Given the description of an element on the screen output the (x, y) to click on. 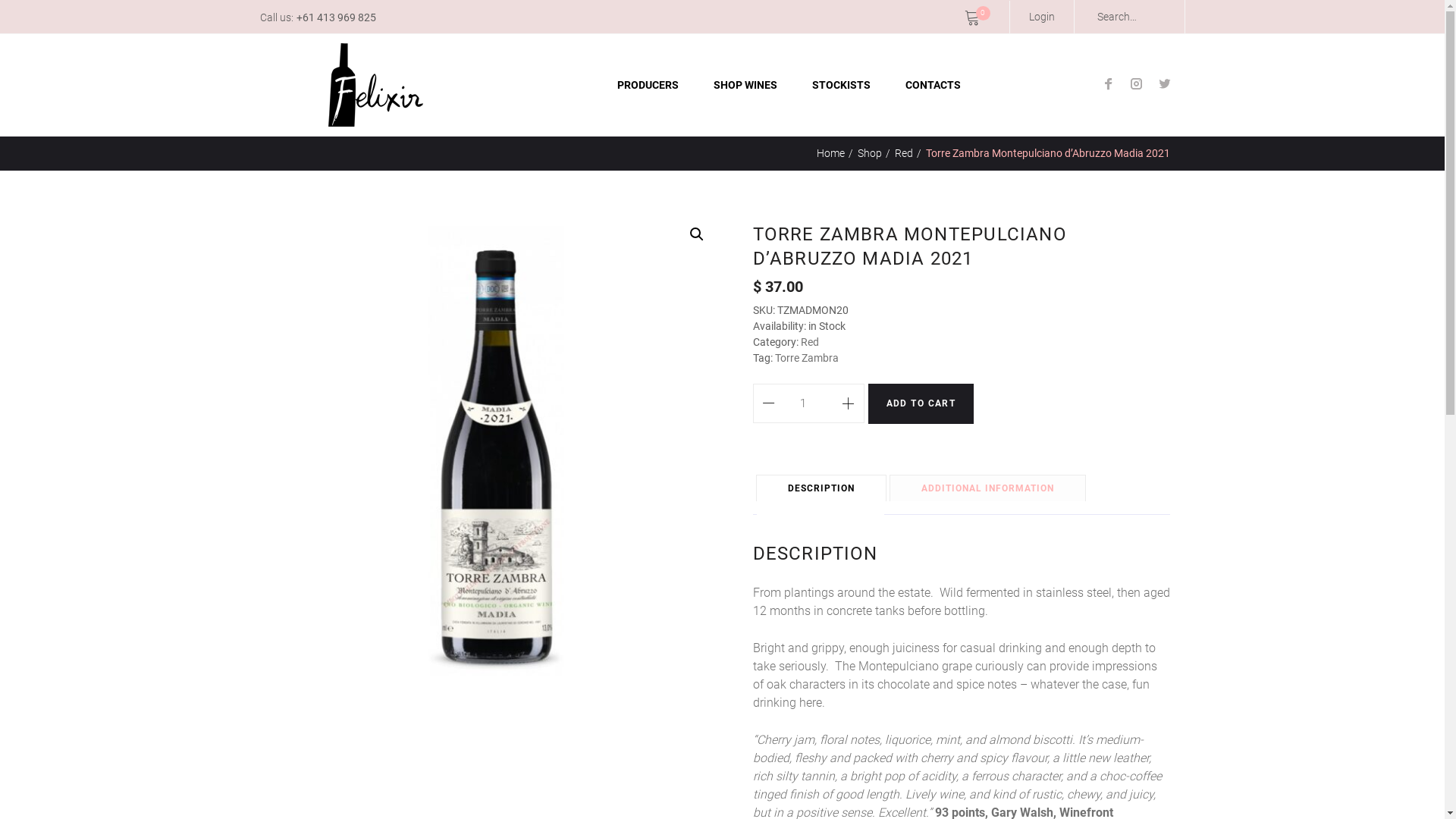
Torre Zambra Element type: text (806, 357)
Facebook Element type: text (1107, 84)
DESCRIPTION Element type: text (820, 488)
Red Element type: text (809, 341)
ADD TO CART Element type: text (920, 403)
+61 413 969 825 Element type: text (335, 17)
ADDITIONAL INFORMATION Element type: text (987, 488)
Twitter Element type: text (1164, 84)
Qty Element type: hover (808, 403)
PRODUCERS Element type: text (647, 85)
Torrezambra-Madia-2021-WEB Element type: hover (497, 453)
Home Element type: text (829, 153)
STOCKISTS Element type: text (841, 85)
Shop Element type: text (868, 153)
CONTACTS Element type: text (932, 85)
Instagram Element type: text (1135, 84)
SHOP WINES Element type: text (745, 85)
Red Element type: text (903, 153)
Login Element type: text (1041, 16)
